Given the description of an element on the screen output the (x, y) to click on. 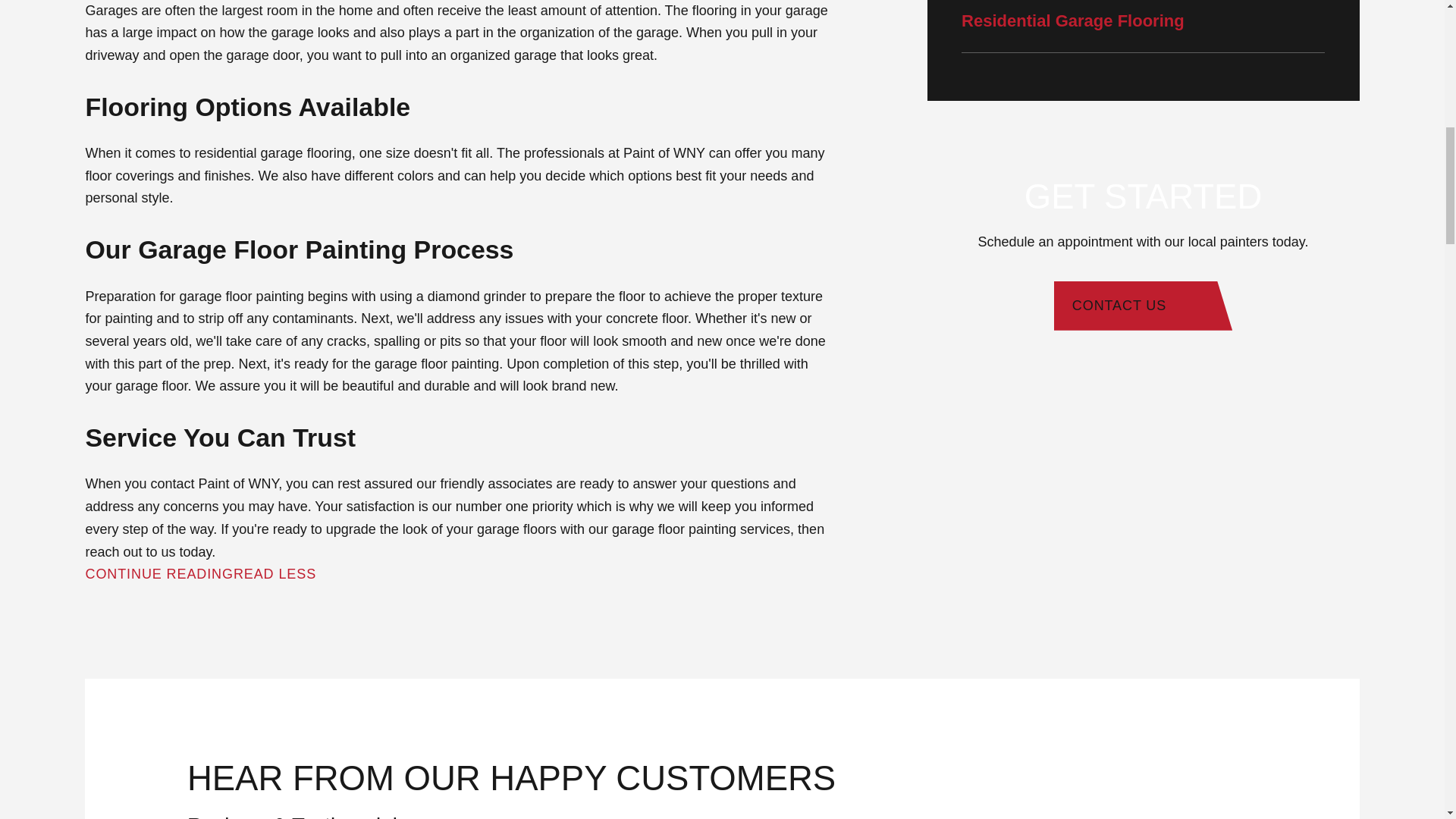
Close (363, 574)
More (336, 574)
